Given the description of an element on the screen output the (x, y) to click on. 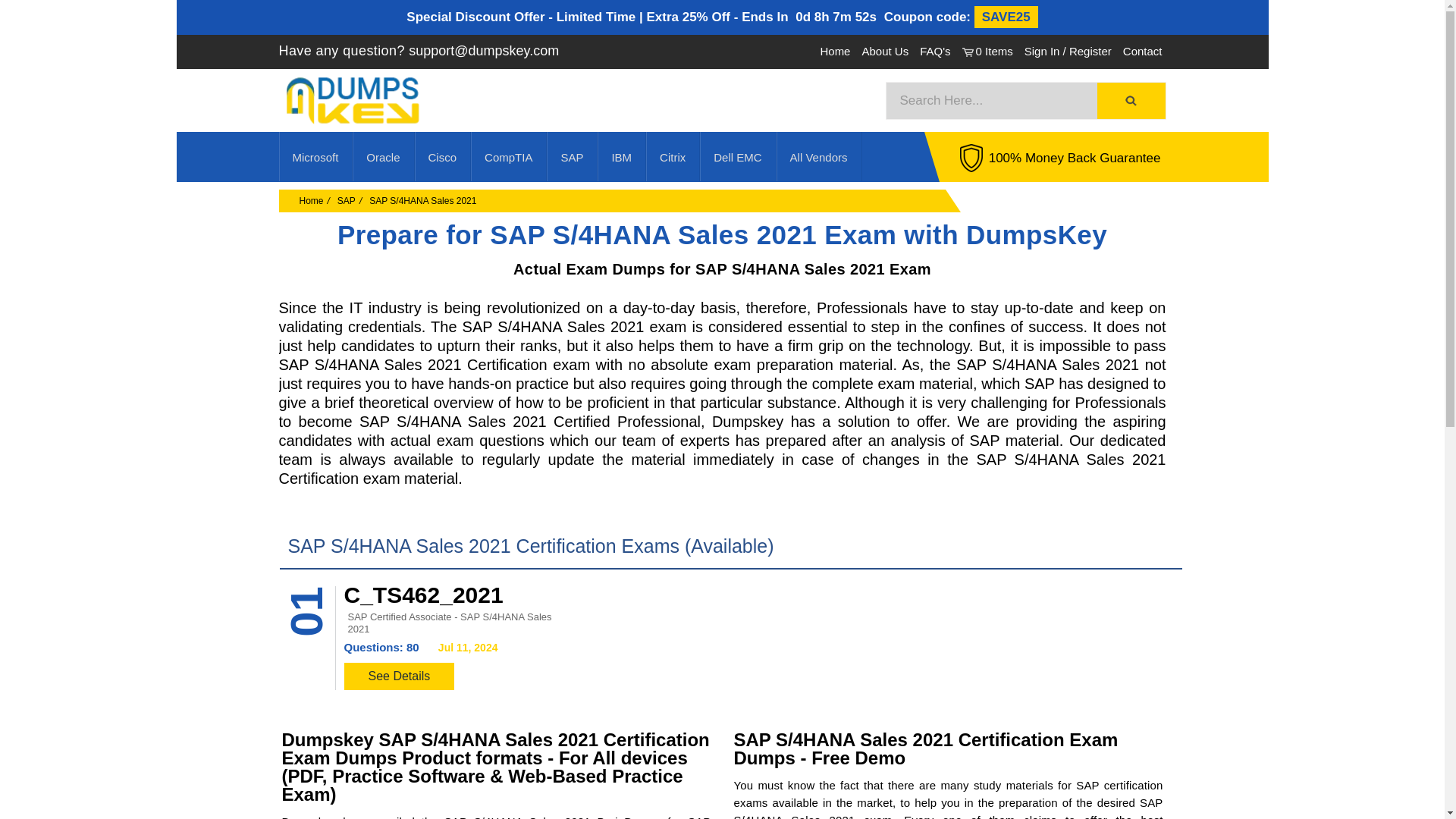
SAP (346, 200)
Dell EMC (737, 155)
All Vendors (819, 155)
Home (834, 51)
Cisco (442, 155)
0 Items (987, 51)
SAP (571, 155)
FAQ'S (935, 51)
Citrix (672, 155)
See Details (398, 676)
Home (310, 200)
Oracle (383, 155)
CompTIA (508, 155)
Microsoft (315, 155)
About Us (884, 51)
